Given the description of an element on the screen output the (x, y) to click on. 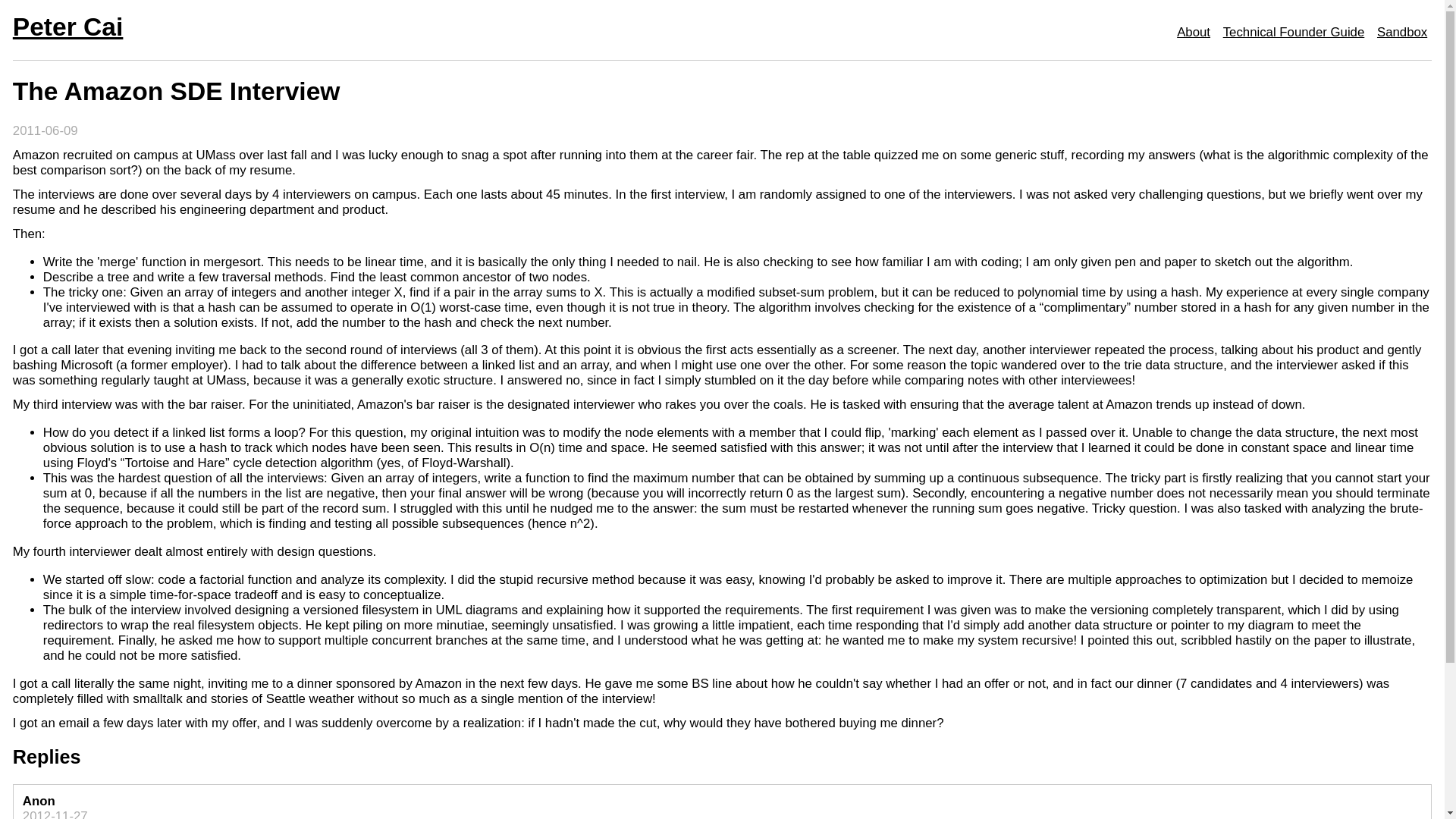
Technical Founder Guide (1294, 32)
About (1192, 32)
Peter Cai (68, 26)
